Given the description of an element on the screen output the (x, y) to click on. 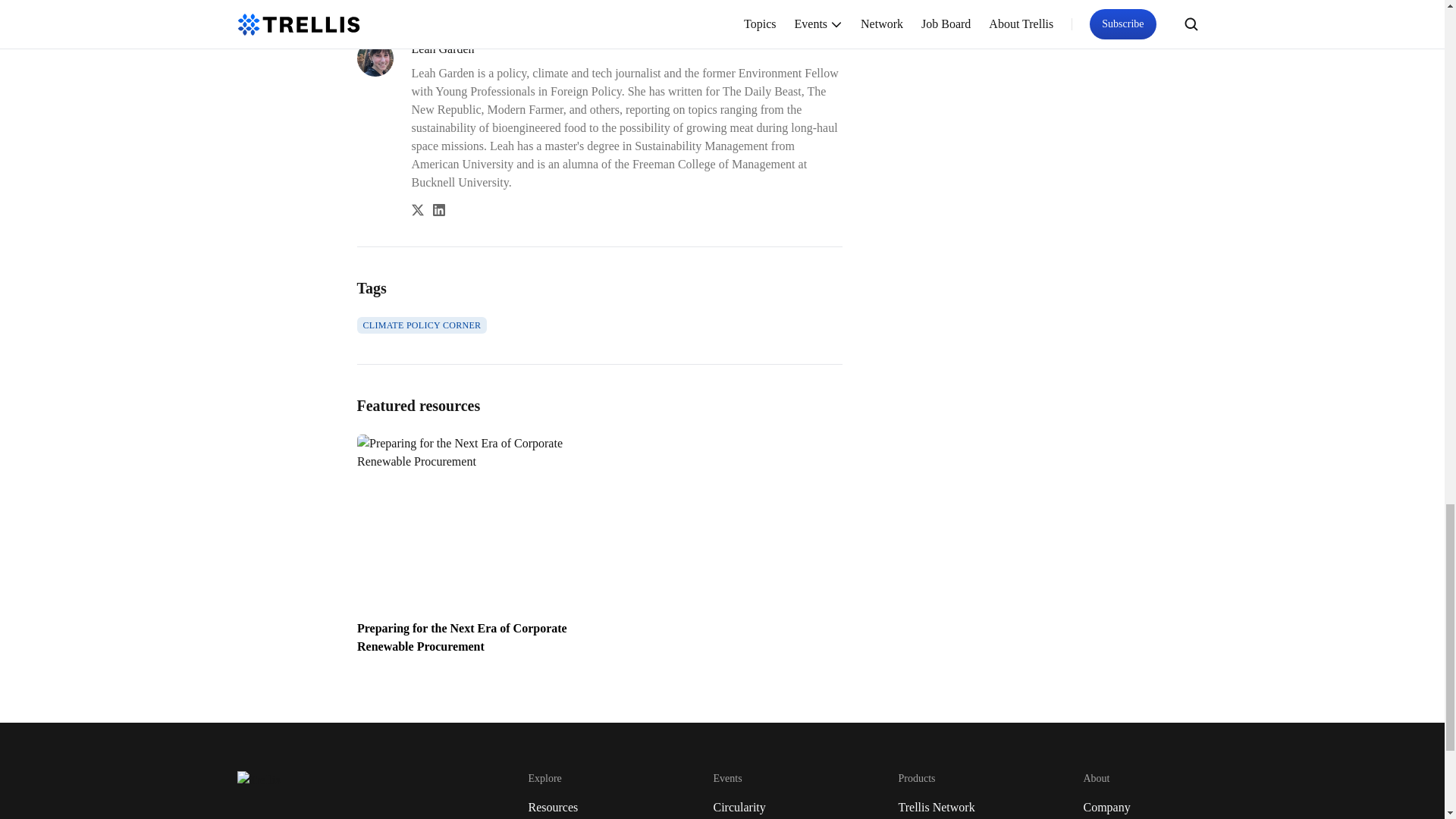
CLIMATE POLICY CORNER (421, 324)
Leah Garden (625, 49)
